Given the description of an element on the screen output the (x, y) to click on. 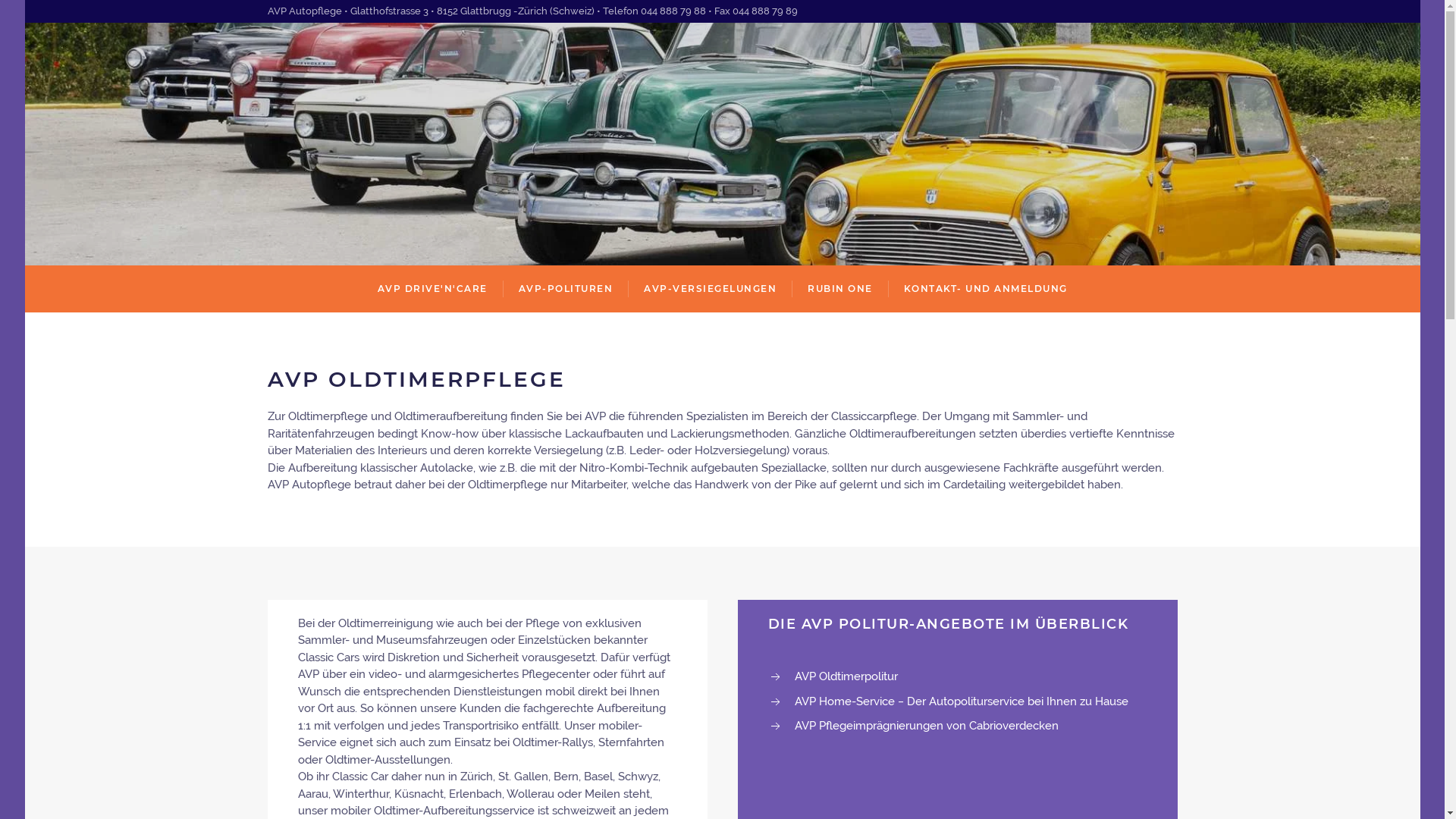
AVP Oldtimerpolitur Element type: text (845, 676)
KONTAKT- UND ANMELDUNG Element type: text (985, 288)
AVP-POLITUREN Element type: text (565, 288)
RUBIN ONE Element type: text (839, 288)
AVP-VERSIEGELUNGEN Element type: text (709, 288)
AVP DRIVE'N'CARE Element type: text (432, 288)
